Given the description of an element on the screen output the (x, y) to click on. 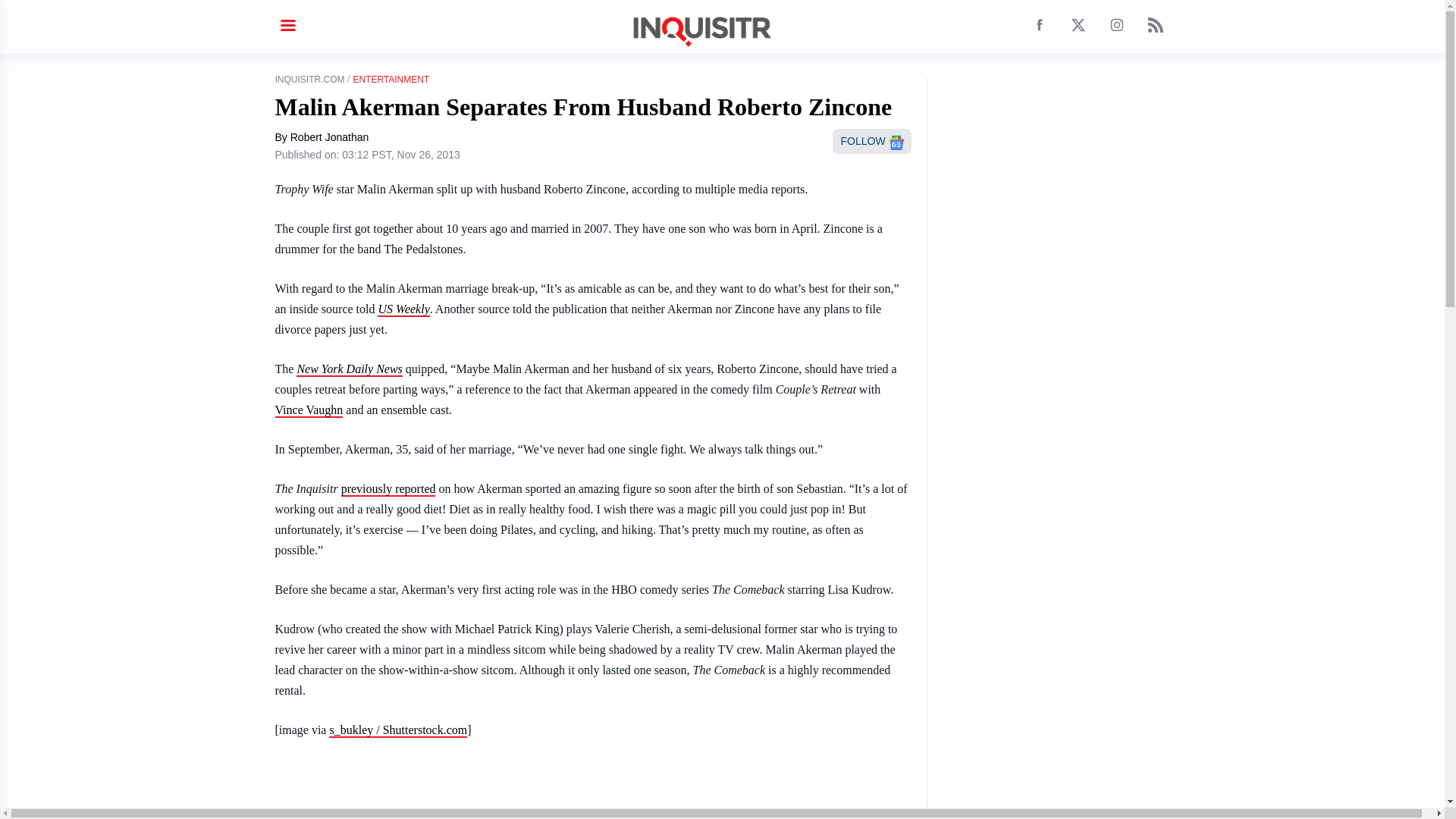
Shutterstock (398, 730)
ENTERTAINMENT (390, 79)
INQUISITR.COM (309, 79)
